Given the description of an element on the screen output the (x, y) to click on. 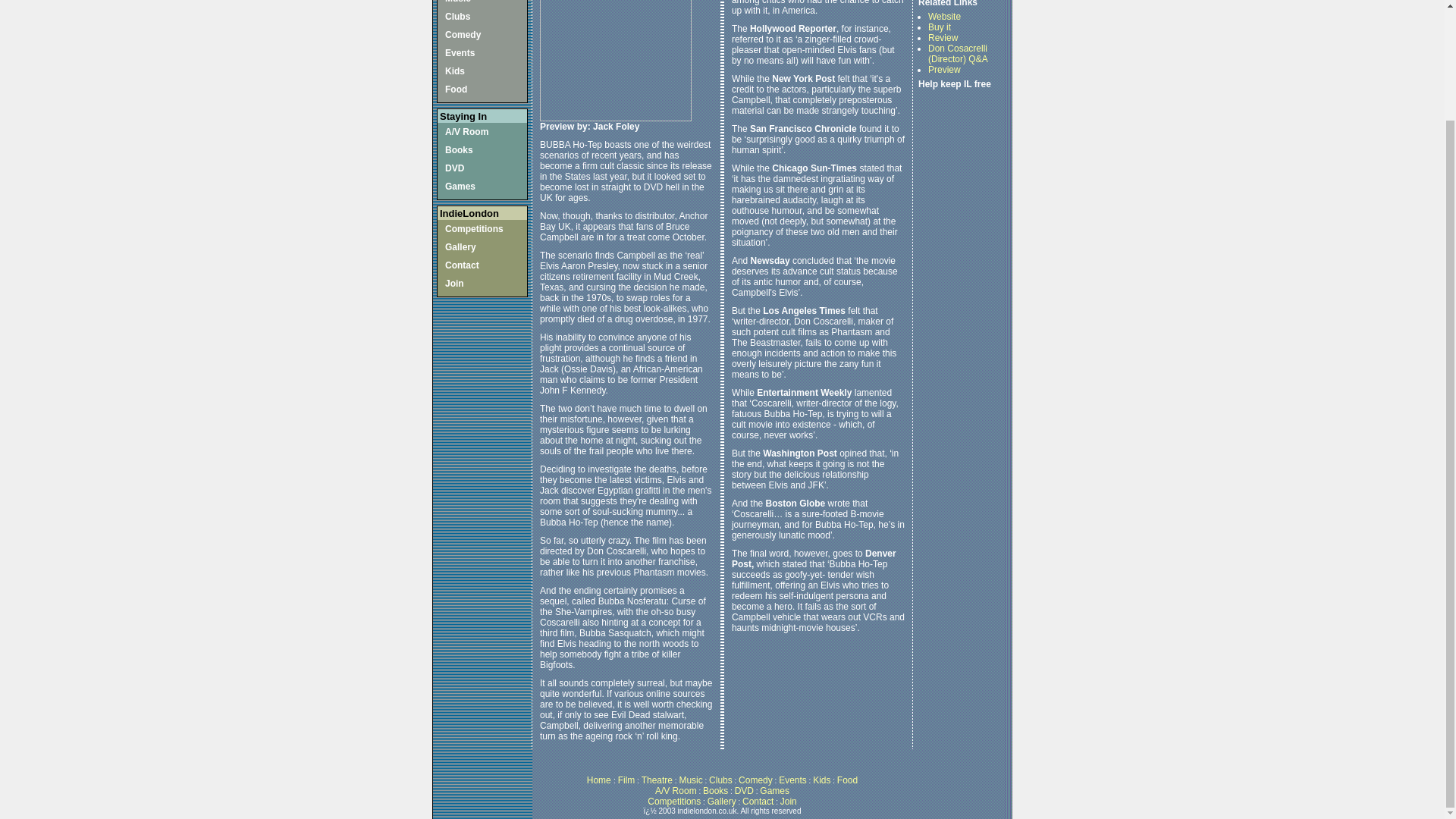
Events (459, 52)
Games (460, 185)
Food (456, 89)
Join (454, 283)
Comedy (462, 34)
Books (459, 149)
DVD (454, 167)
Contact (462, 265)
Competitions (474, 228)
Kids (454, 71)
Gallery (460, 246)
Music (457, 2)
Clubs (457, 16)
